Given the description of an element on the screen output the (x, y) to click on. 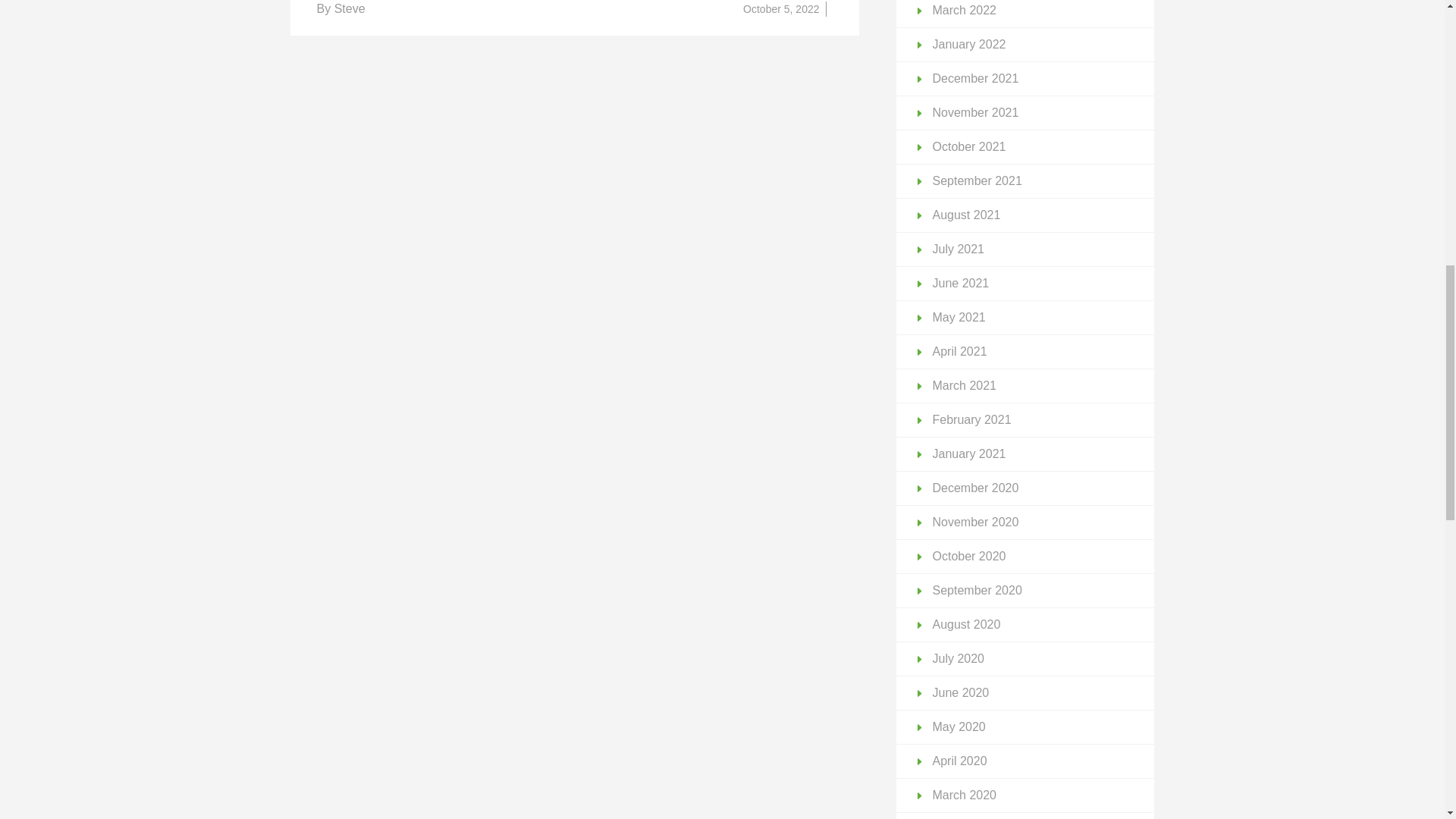
July 2021 (959, 248)
October 5, 2022 (780, 9)
March 2022 (965, 10)
January 2022 (969, 43)
August 2021 (967, 214)
December 2021 (976, 78)
September 2021 (977, 180)
October 2021 (969, 146)
Steve (349, 8)
November 2021 (976, 112)
